Given the description of an element on the screen output the (x, y) to click on. 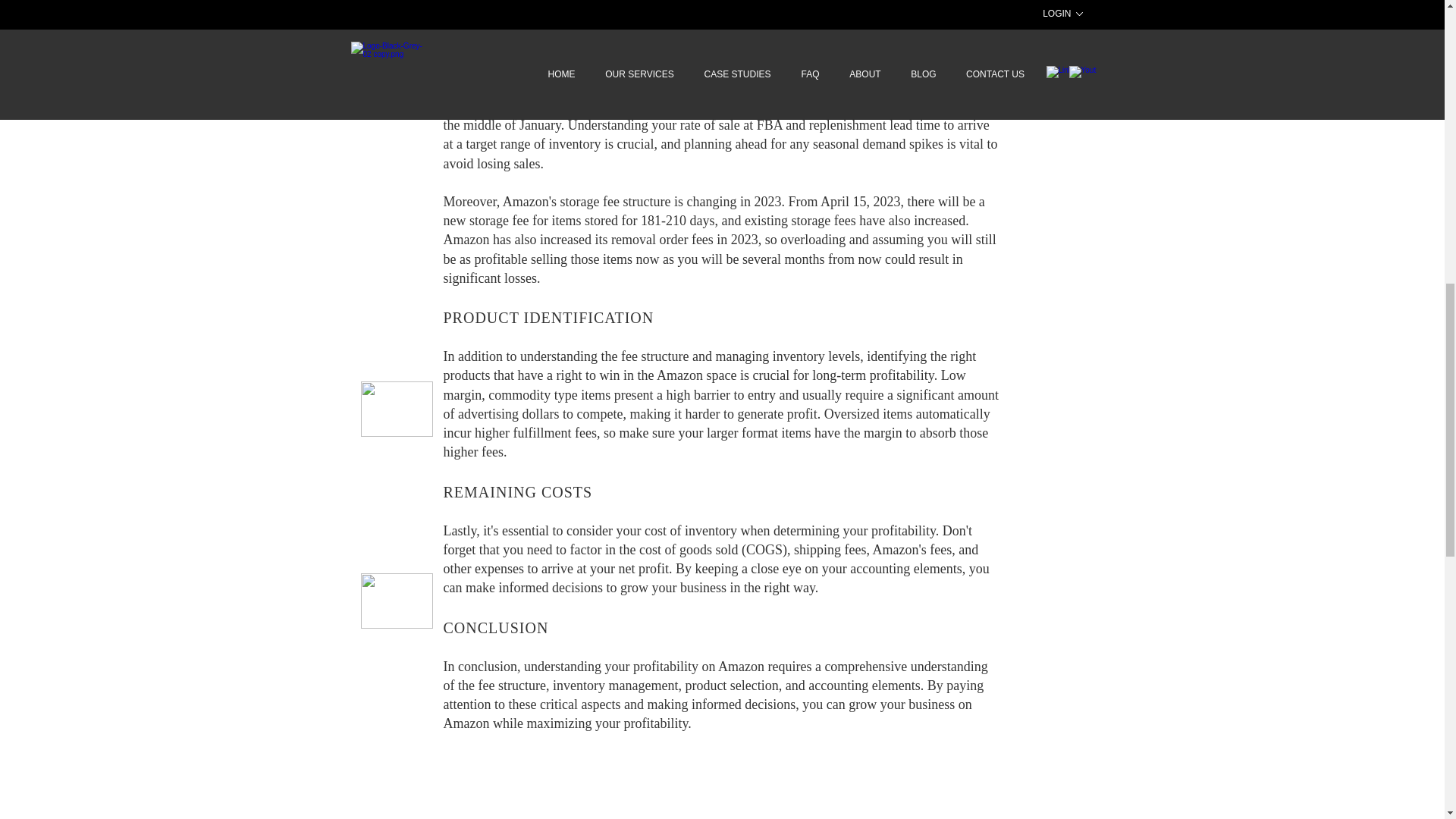
Fees-Icons-01.png (396, 85)
Fees-Icons-01.png (396, 408)
Fees-Icons-01.png (396, 600)
